Given the description of an element on the screen output the (x, y) to click on. 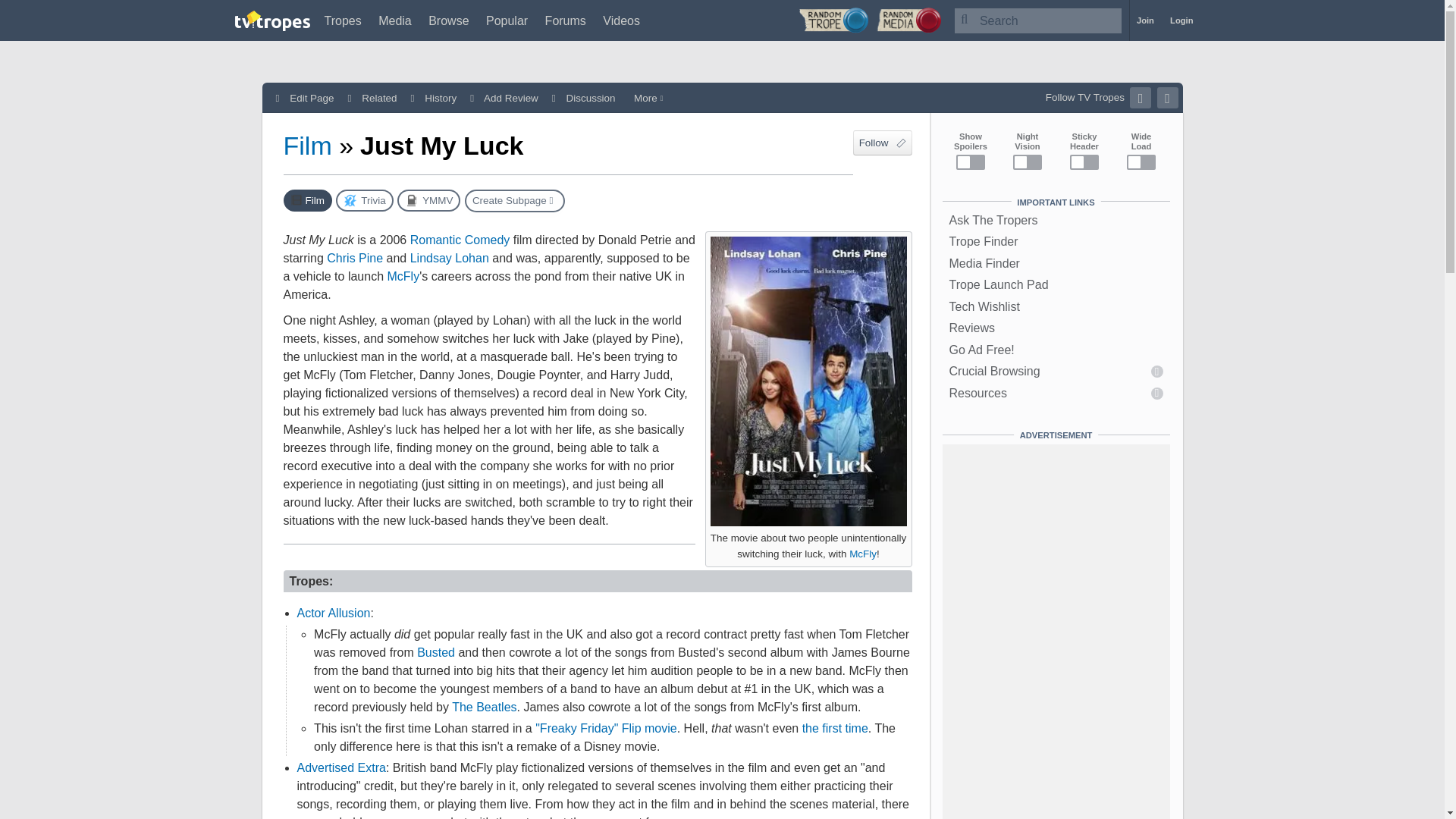
Tropes (342, 20)
Media (395, 20)
Login (1181, 20)
The Trivia page (364, 200)
Forums (565, 20)
Popular (506, 20)
Browse (448, 20)
The YMMV page (428, 200)
The Film page (307, 200)
Videos (621, 20)
